Given the description of an element on the screen output the (x, y) to click on. 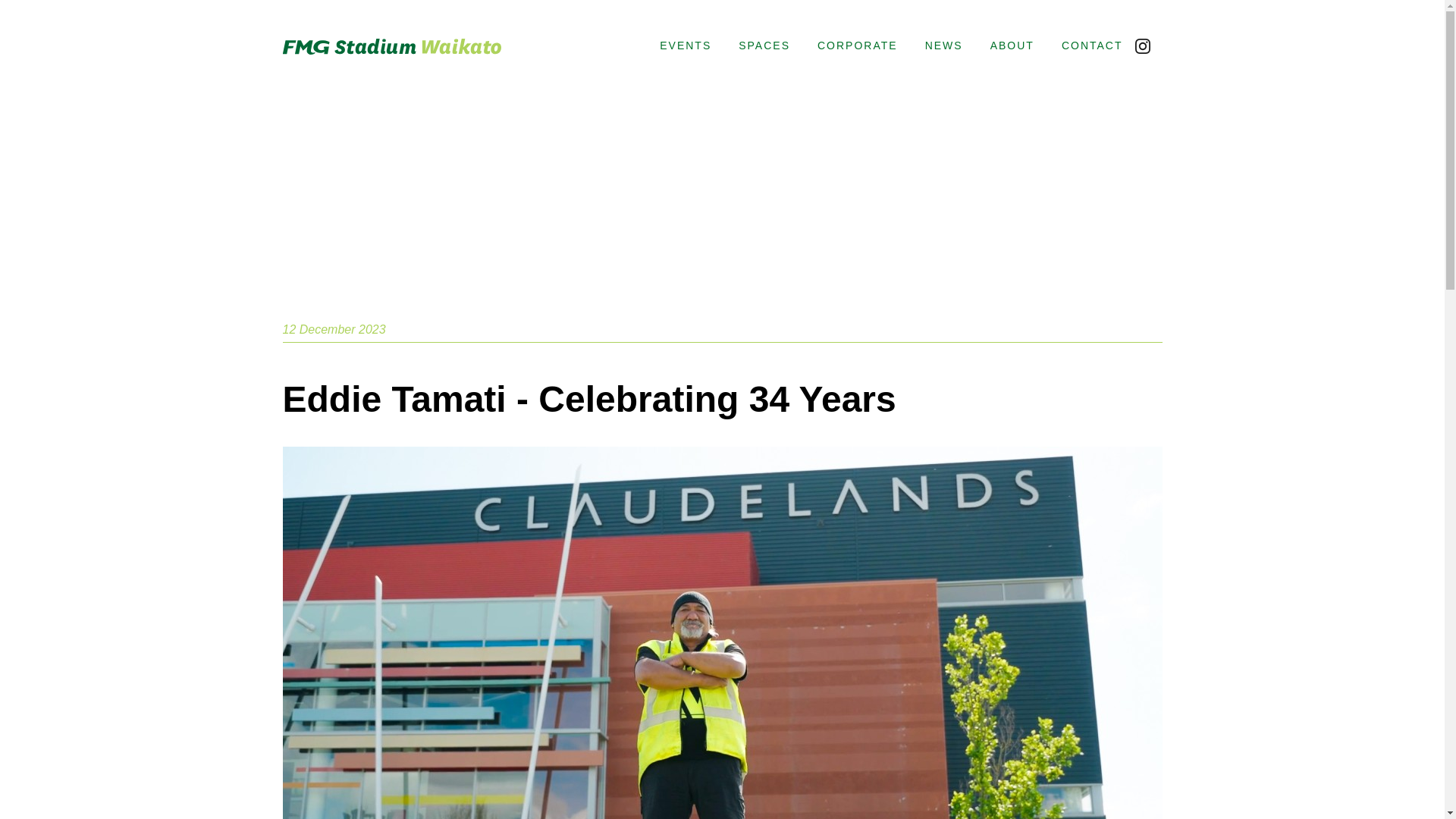
CORPORATE (857, 45)
CONTACT (1085, 45)
SPACES (764, 45)
EVENTS (685, 45)
ABOUT (1012, 45)
NEWS (943, 45)
